Given the description of an element on the screen output the (x, y) to click on. 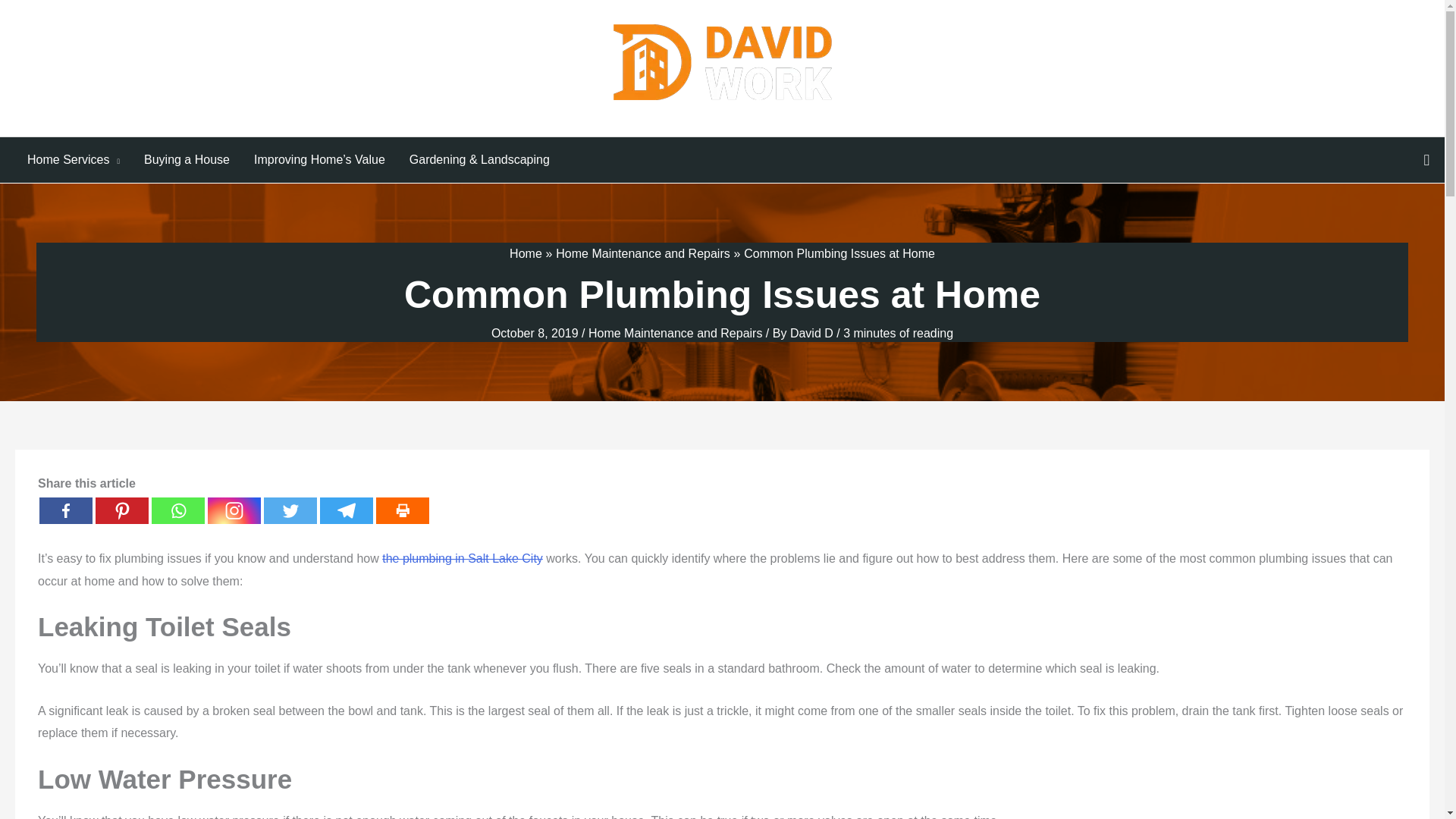
Telegram (346, 510)
David D (812, 332)
Home (525, 253)
Twitter (290, 510)
the plumbing in Salt Lake City (462, 558)
Home Services (73, 159)
Pinterest (122, 510)
View all posts by David D (812, 332)
Print (402, 510)
Facebook (66, 510)
